Given the description of an element on the screen output the (x, y) to click on. 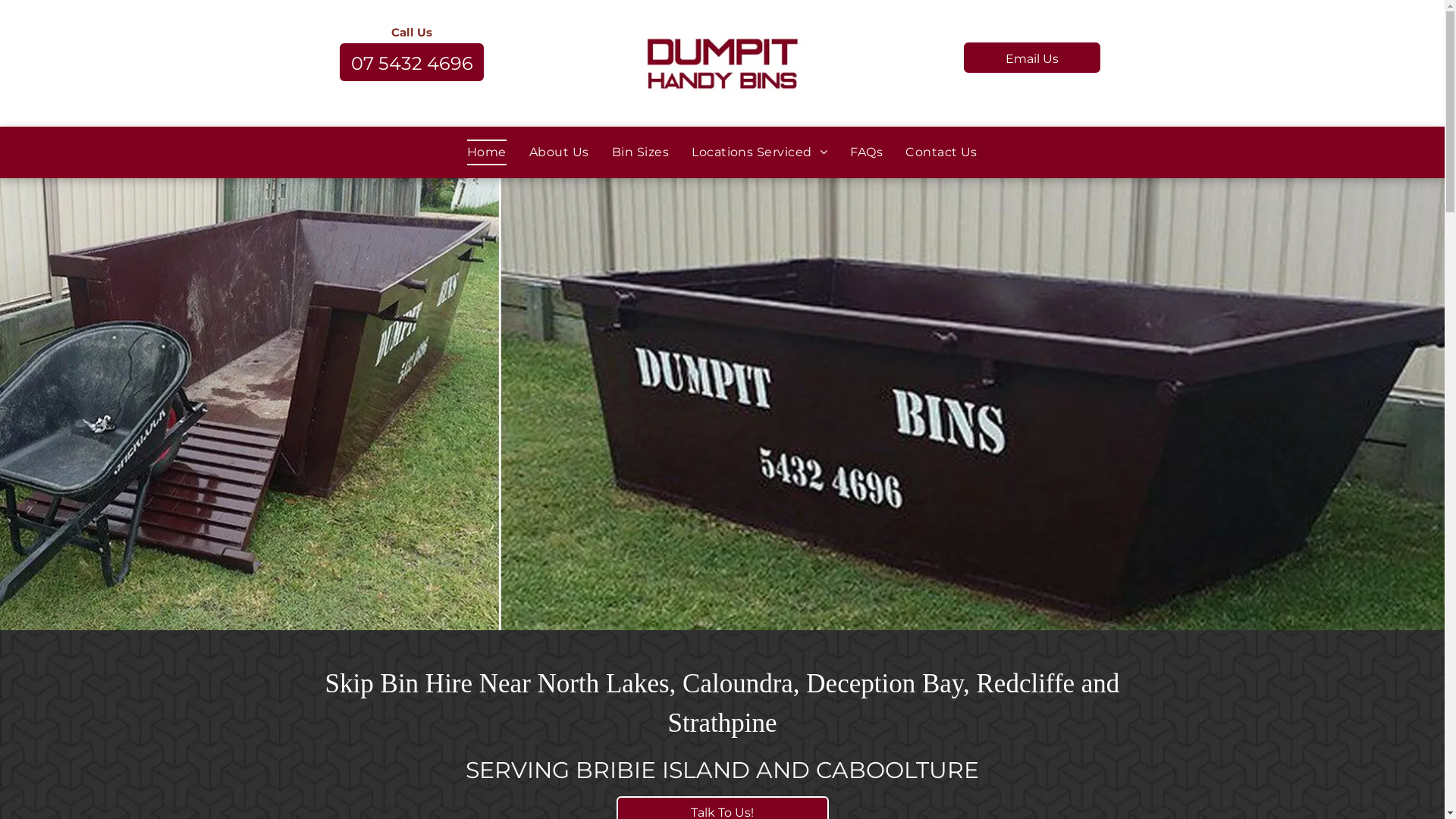
Email Us Element type: text (1031, 57)
About Us Element type: text (558, 152)
Locations Serviced Element type: text (759, 152)
Home Element type: text (486, 152)
07 5432 4696 Element type: text (411, 61)
FAQs Element type: text (866, 152)
Contact Us Element type: text (941, 152)
Bin Sizes Element type: text (640, 152)
